Given the description of an element on the screen output the (x, y) to click on. 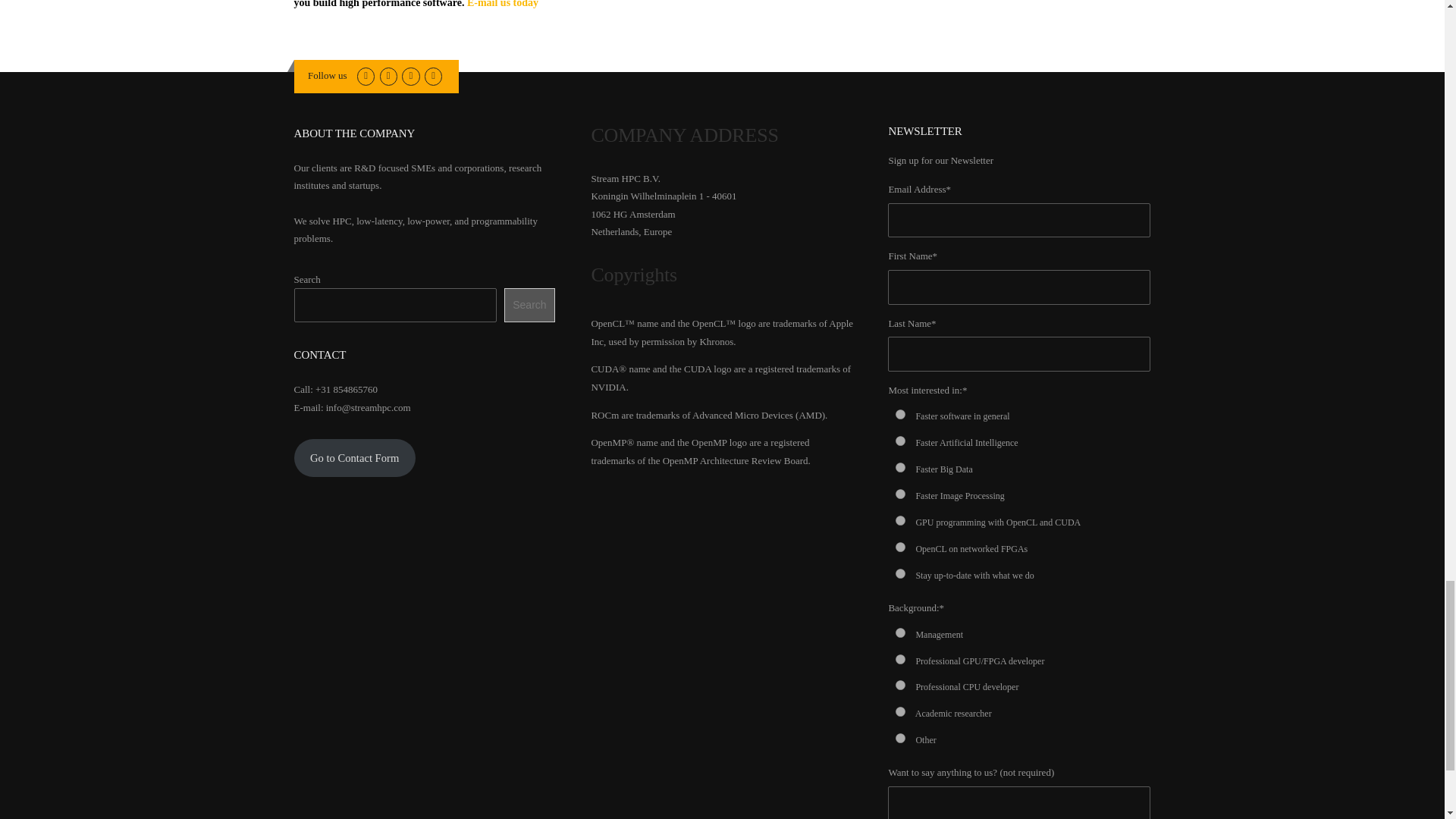
OpenCL on networked FPGAs (900, 547)
Other (900, 737)
Email (410, 75)
Faster software in general (900, 414)
Faster Big Data (900, 467)
GPU programming with OpenCL and CUDA (900, 520)
Academic researcher (900, 711)
Stay up-to-date with what we do (900, 573)
Linkedin (388, 75)
Management (900, 633)
Faster Artificial Intelligence (900, 440)
Twitter (365, 75)
Faster Image Processing (900, 493)
RSS (433, 75)
Professional CPU developer (900, 685)
